Given the description of an element on the screen output the (x, y) to click on. 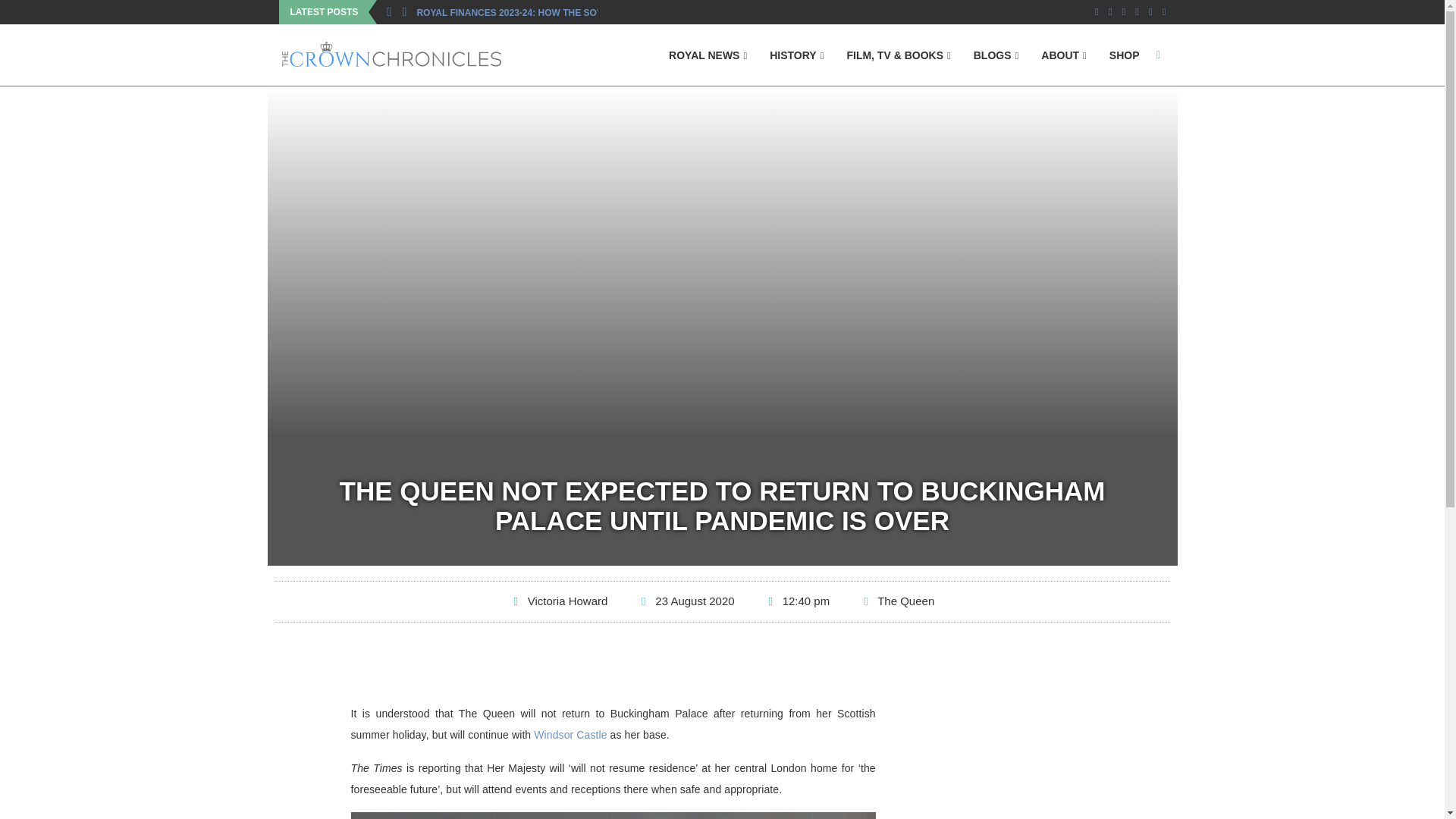
ROYAL FINANCES 2023-24: HOW THE SOVEREIGN GRANT WAS SPENT (572, 12)
ROYAL NEWS (707, 55)
